Given the description of an element on the screen output the (x, y) to click on. 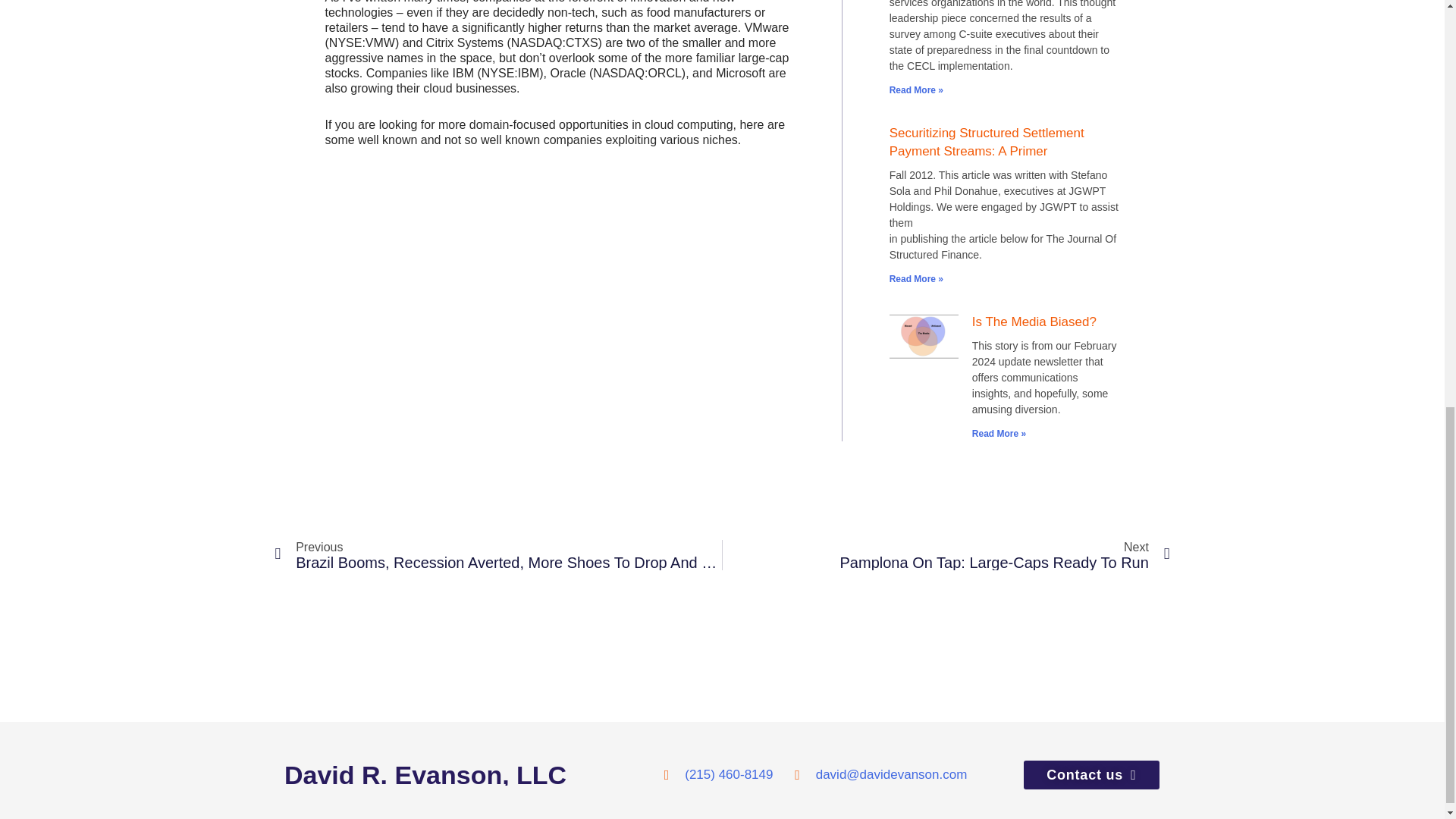
Is The Media Biased? (1034, 321)
Contact us (1090, 774)
Securitizing Structured Settlement Payment Streams: A Primer (986, 142)
David R. Evanson, LLC (473, 774)
